Given the description of an element on the screen output the (x, y) to click on. 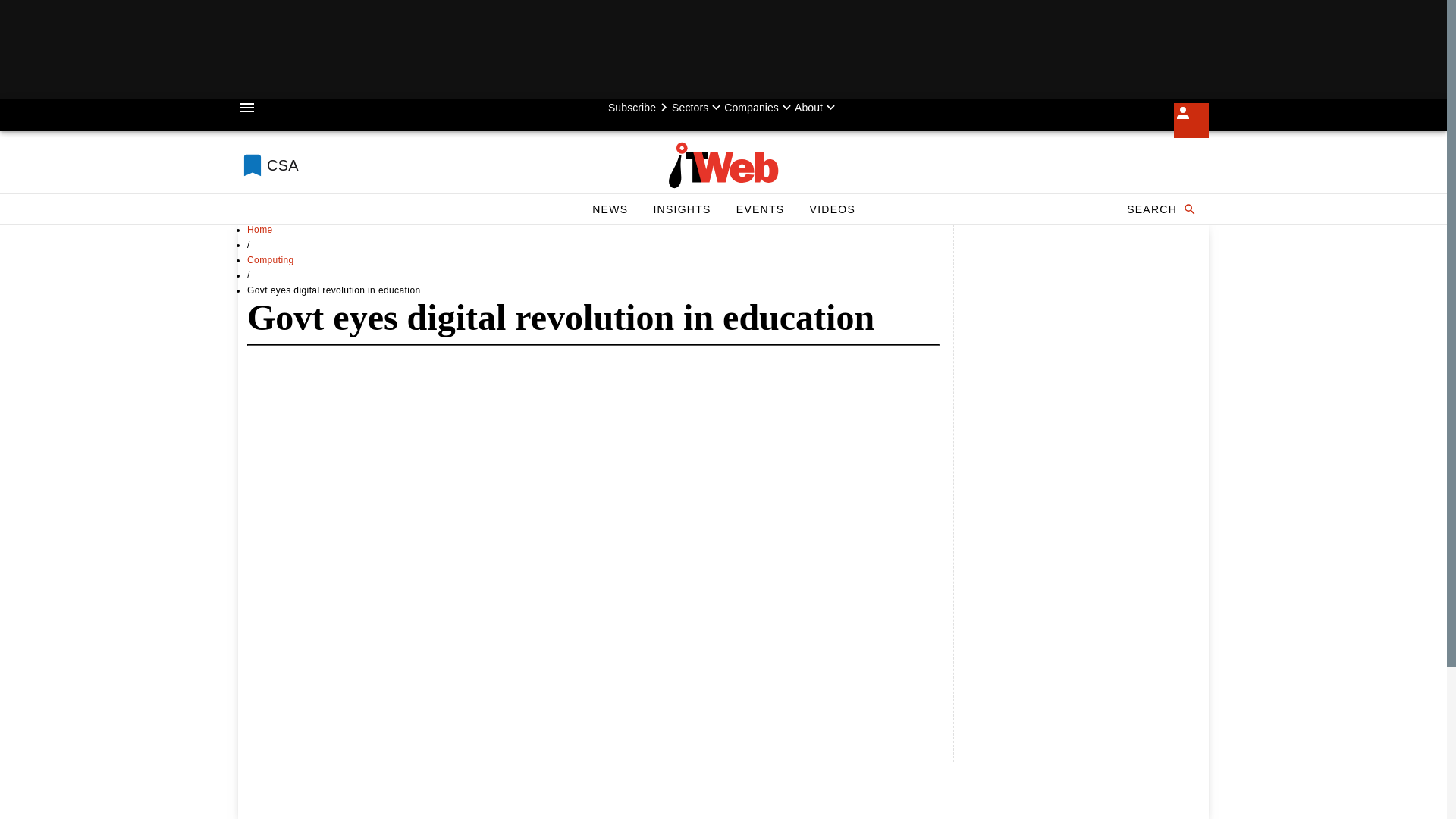
Computing (270, 259)
EVENTS (759, 208)
NEWS (609, 208)
VIDEOS (831, 208)
Home (260, 229)
SEARCH (1160, 209)
INSIGHTS (681, 208)
CSA (373, 165)
Subscribe (639, 107)
